Given the description of an element on the screen output the (x, y) to click on. 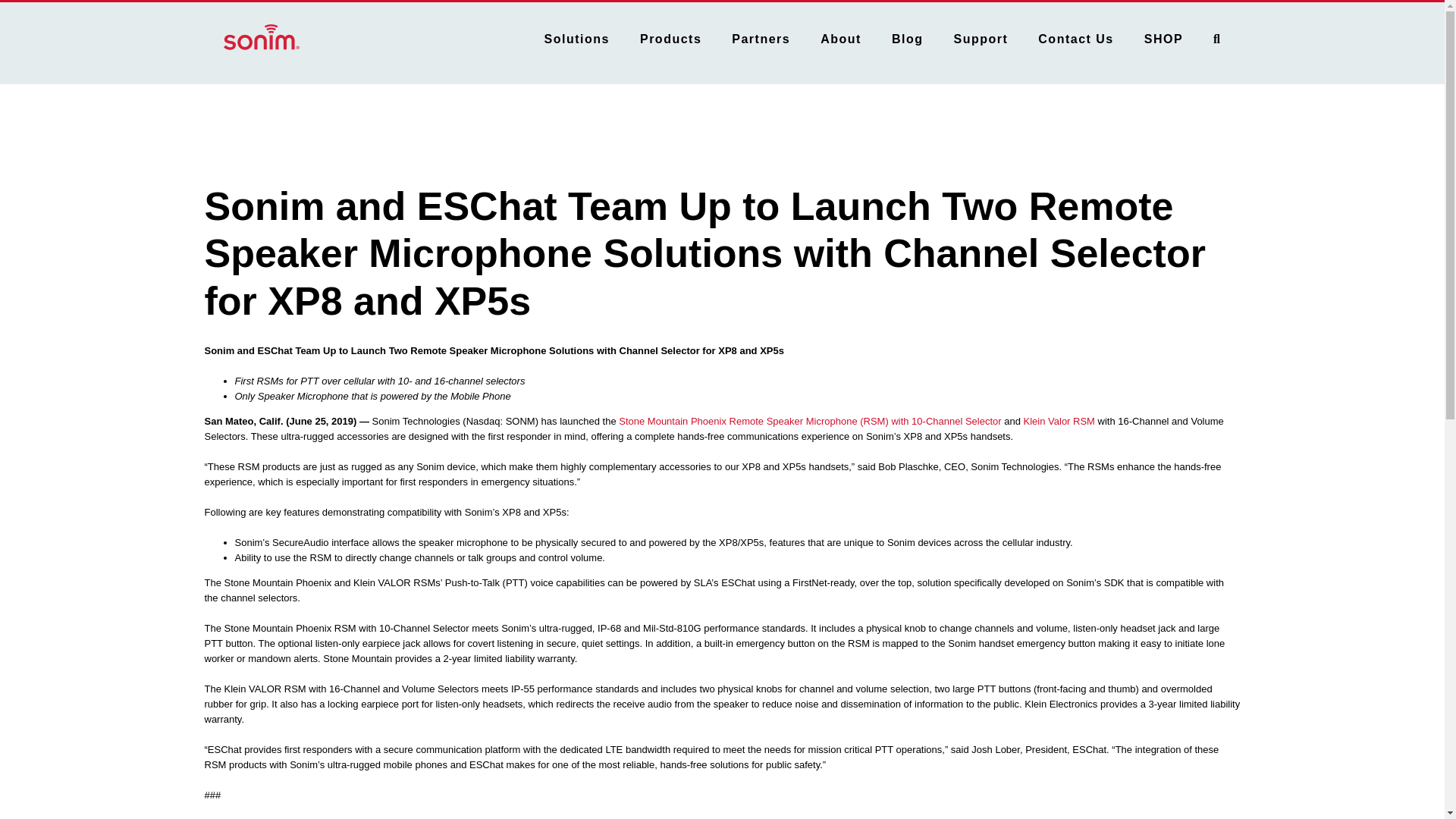
Products (670, 37)
Contact Us (1075, 37)
Solutions (577, 37)
